Given the description of an element on the screen output the (x, y) to click on. 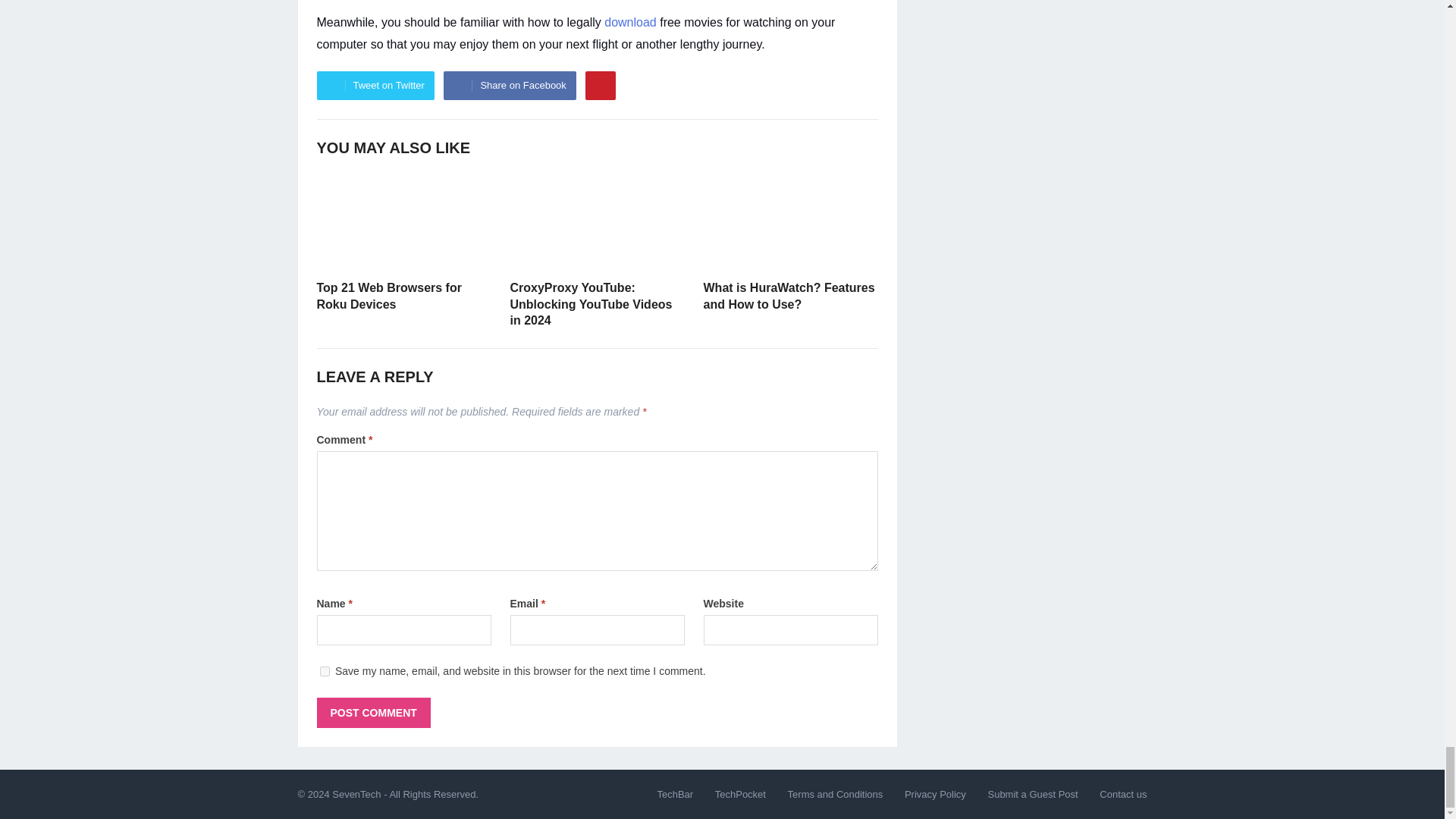
Post Comment (373, 712)
yes (325, 671)
download (630, 21)
